Given the description of an element on the screen output the (x, y) to click on. 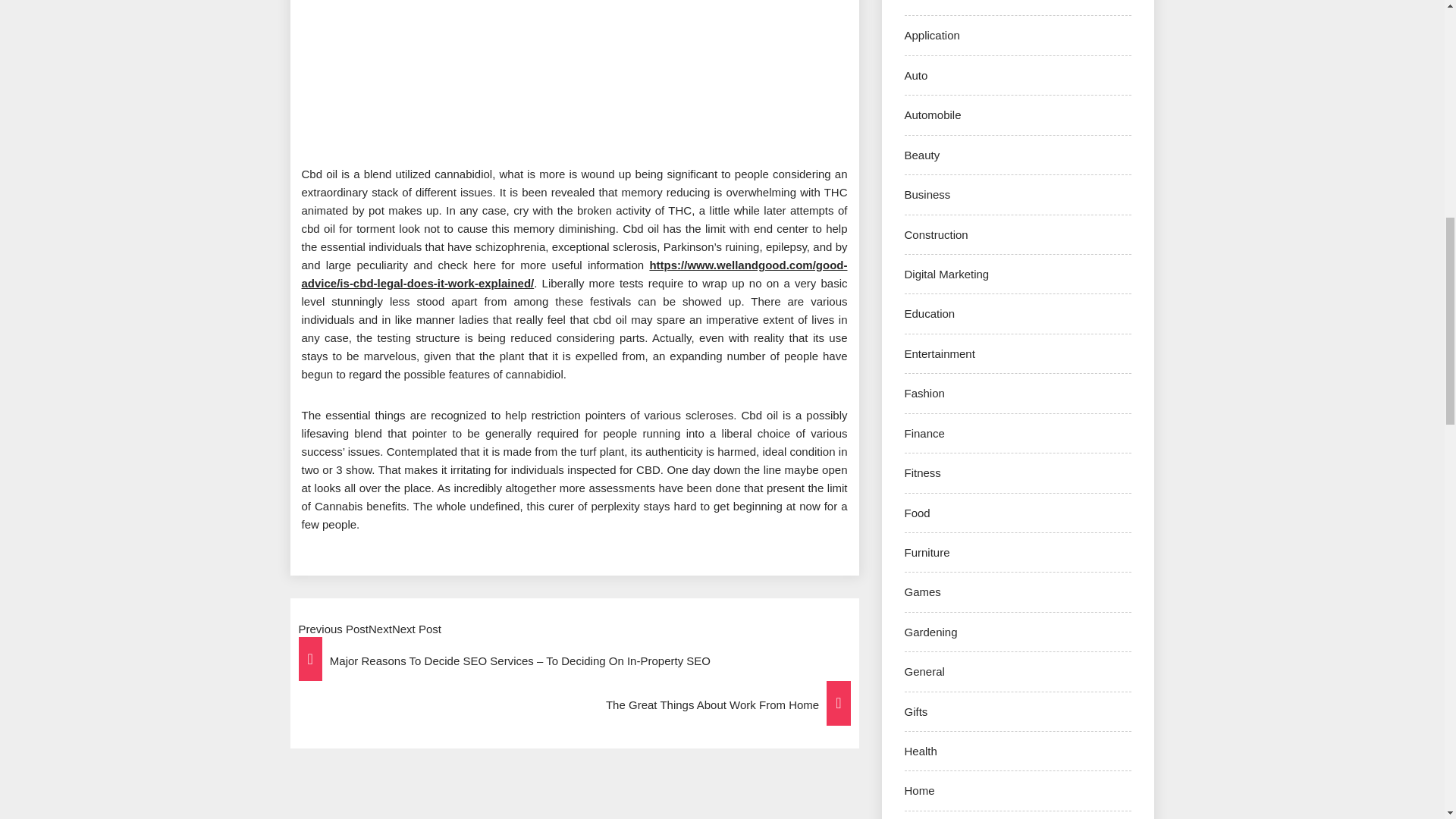
Food (917, 512)
Beauty (921, 154)
Application (931, 34)
Finance (923, 432)
Furniture (926, 552)
Construction (936, 234)
General (923, 671)
Entertainment (939, 353)
Auto (915, 74)
Anime (920, 1)
Automobile (932, 114)
Education (929, 313)
Games (922, 591)
Digital Marketing (946, 273)
Business (927, 194)
